Given the description of an element on the screen output the (x, y) to click on. 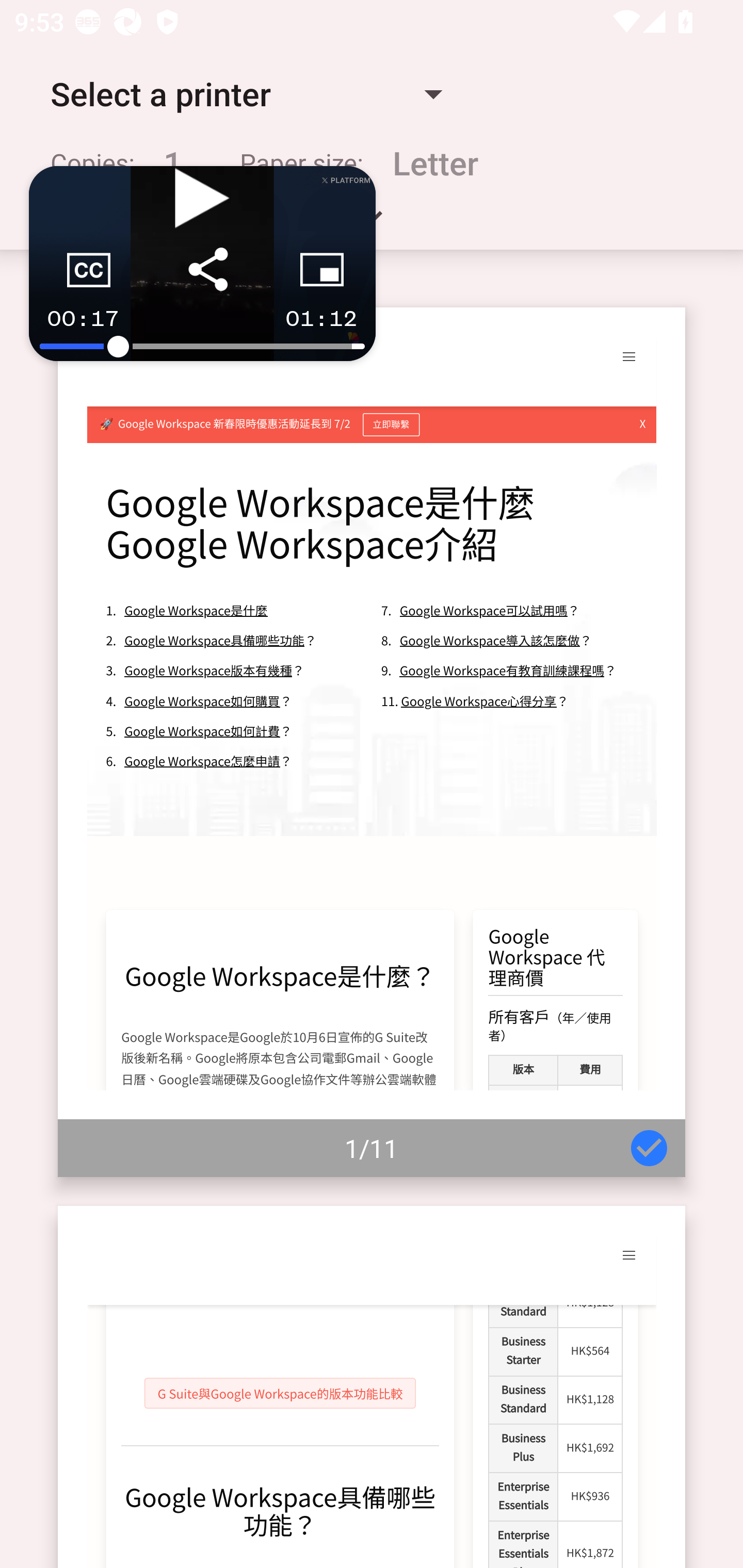
Select a printer (245, 93)
Page 1 of 11 1/11 (371, 742)
Page 2 of 11 (371, 1386)
